Given the description of an element on the screen output the (x, y) to click on. 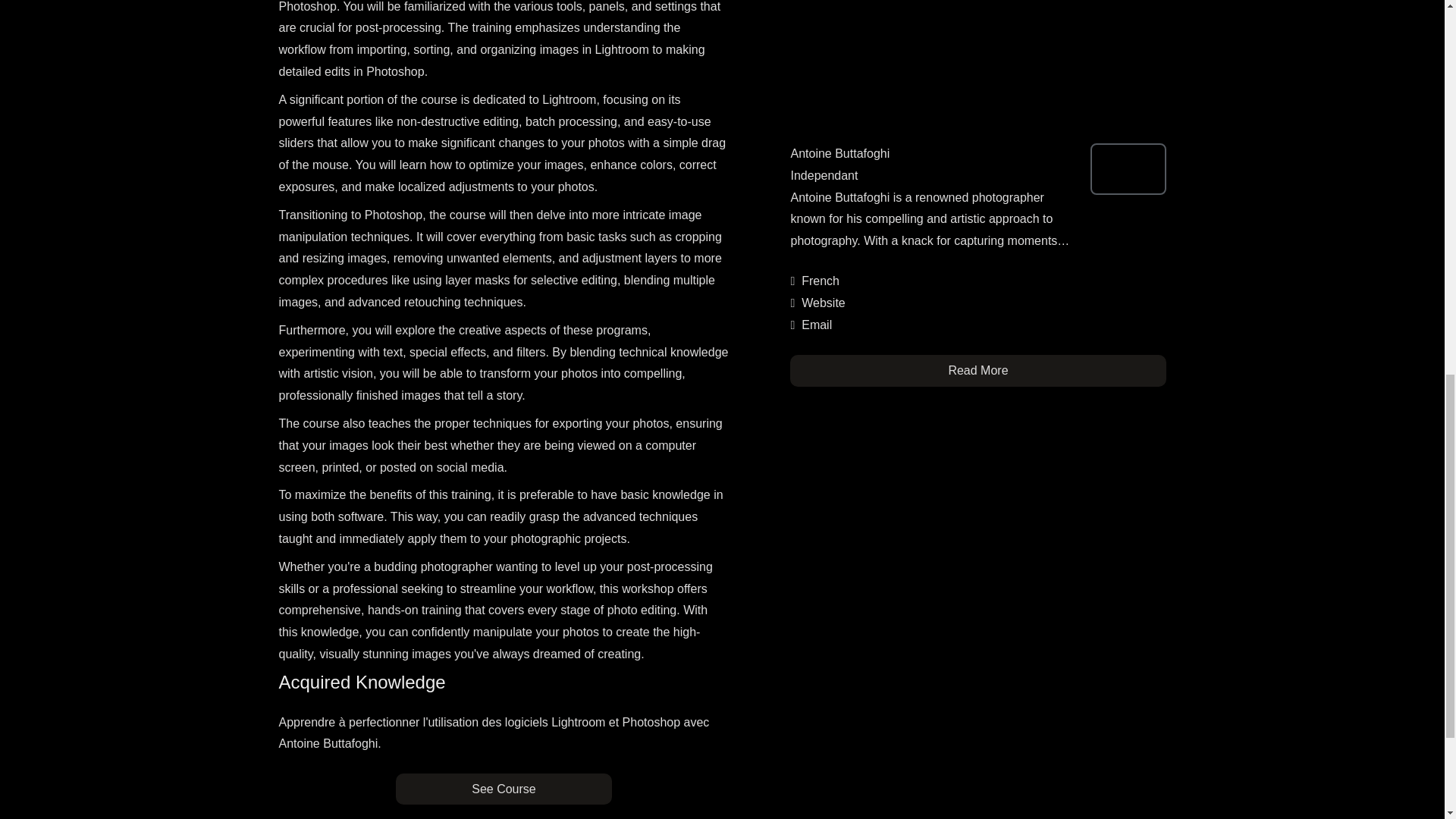
See Course (503, 788)
Read More (978, 369)
Website (823, 302)
Email (816, 324)
Email (816, 324)
Website (823, 302)
